Given the description of an element on the screen output the (x, y) to click on. 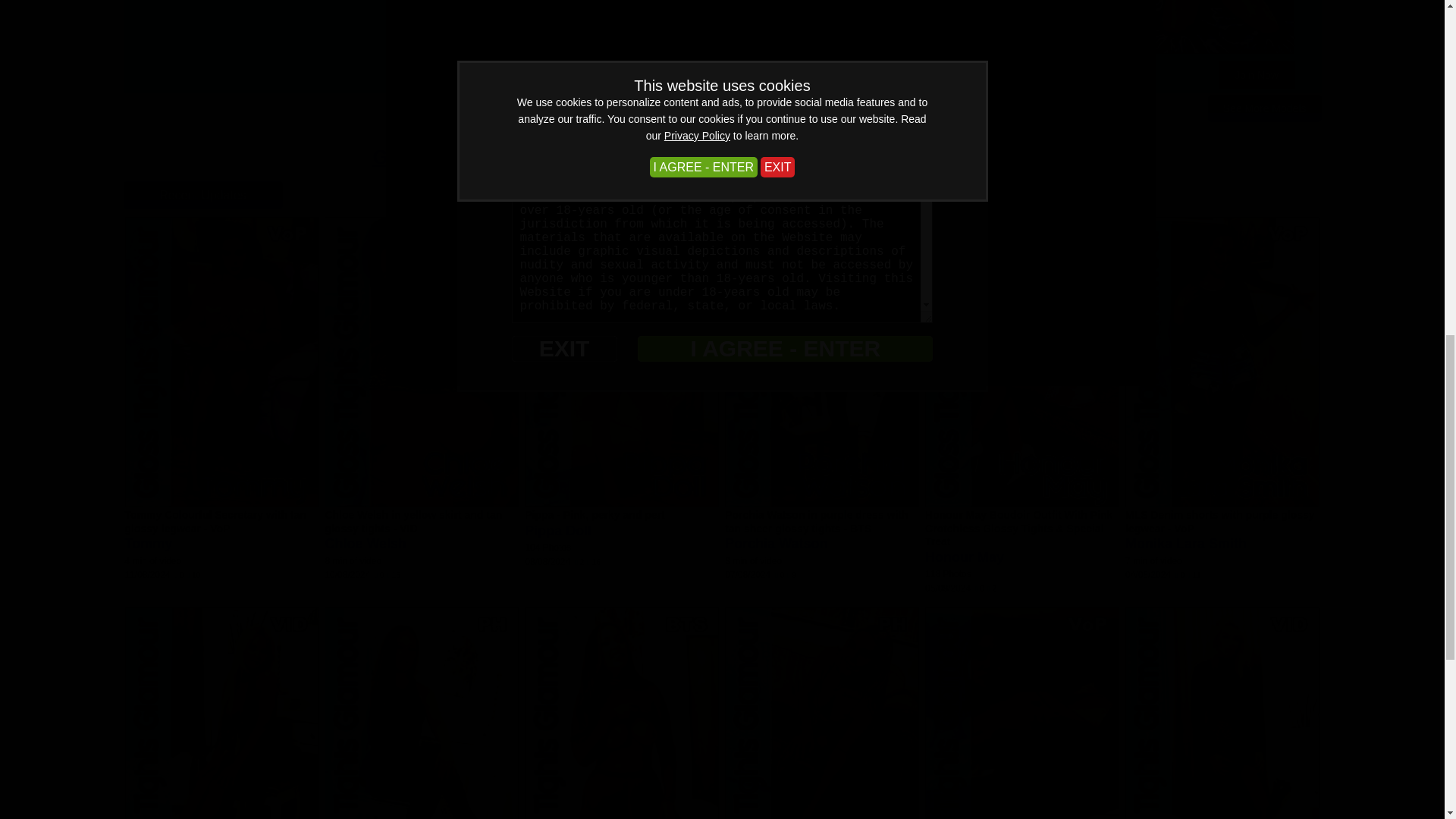
See More Models (1265, 108)
Chloe Welsh (365, 543)
Pippa Doll (557, 530)
Tommy (147, 543)
Pippa - Pink, perky and pert (593, 514)
Tommy Colourful Secretary with tan glossy legwear - VoP (214, 521)
Chloe Welsh in yellow skirt and tan glossy tights - VID (413, 521)
